Given the description of an element on the screen output the (x, y) to click on. 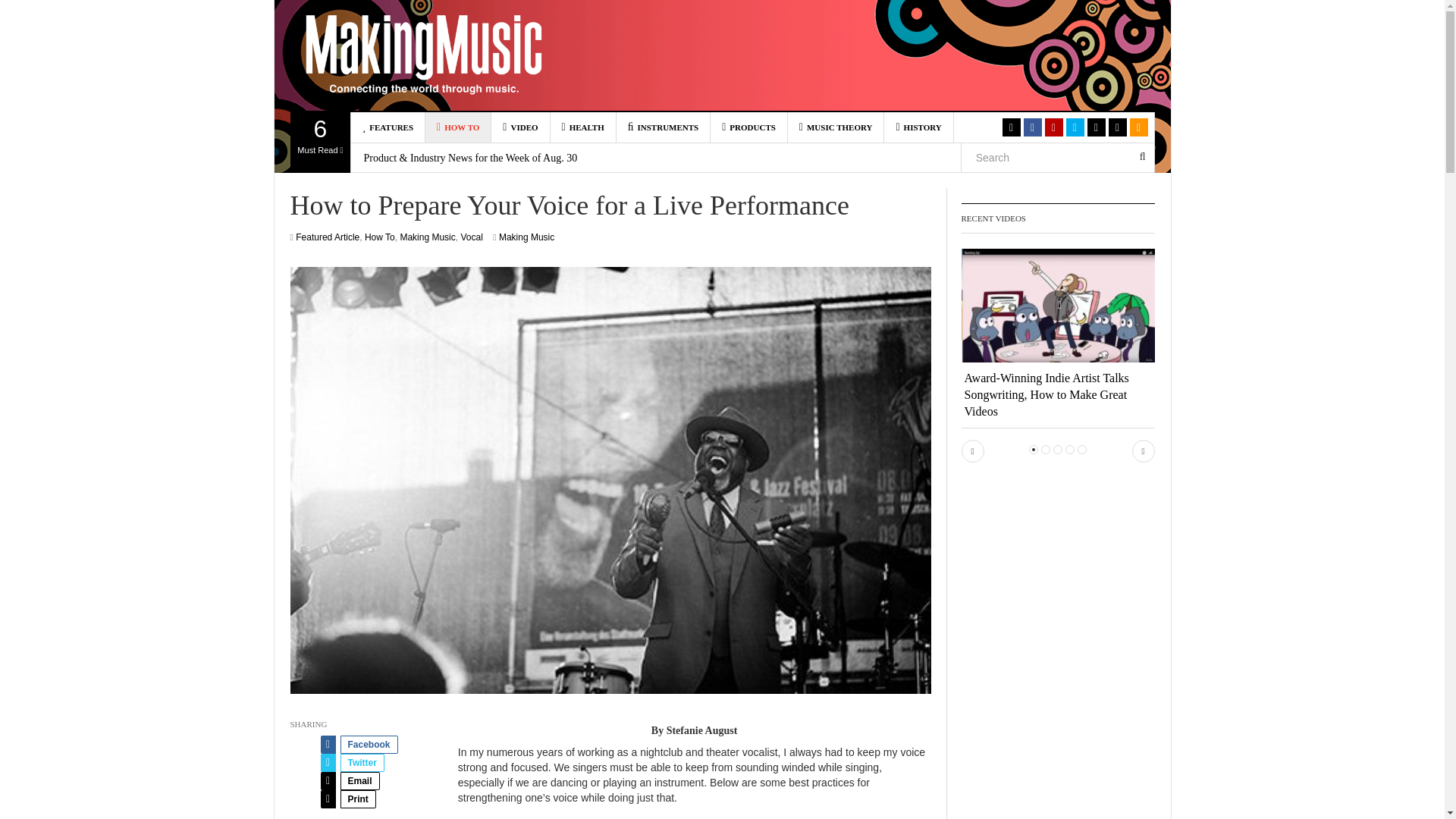
FEATURES (319, 142)
HOW TO (387, 127)
Making Music Magazine (458, 127)
